Given the description of an element on the screen output the (x, y) to click on. 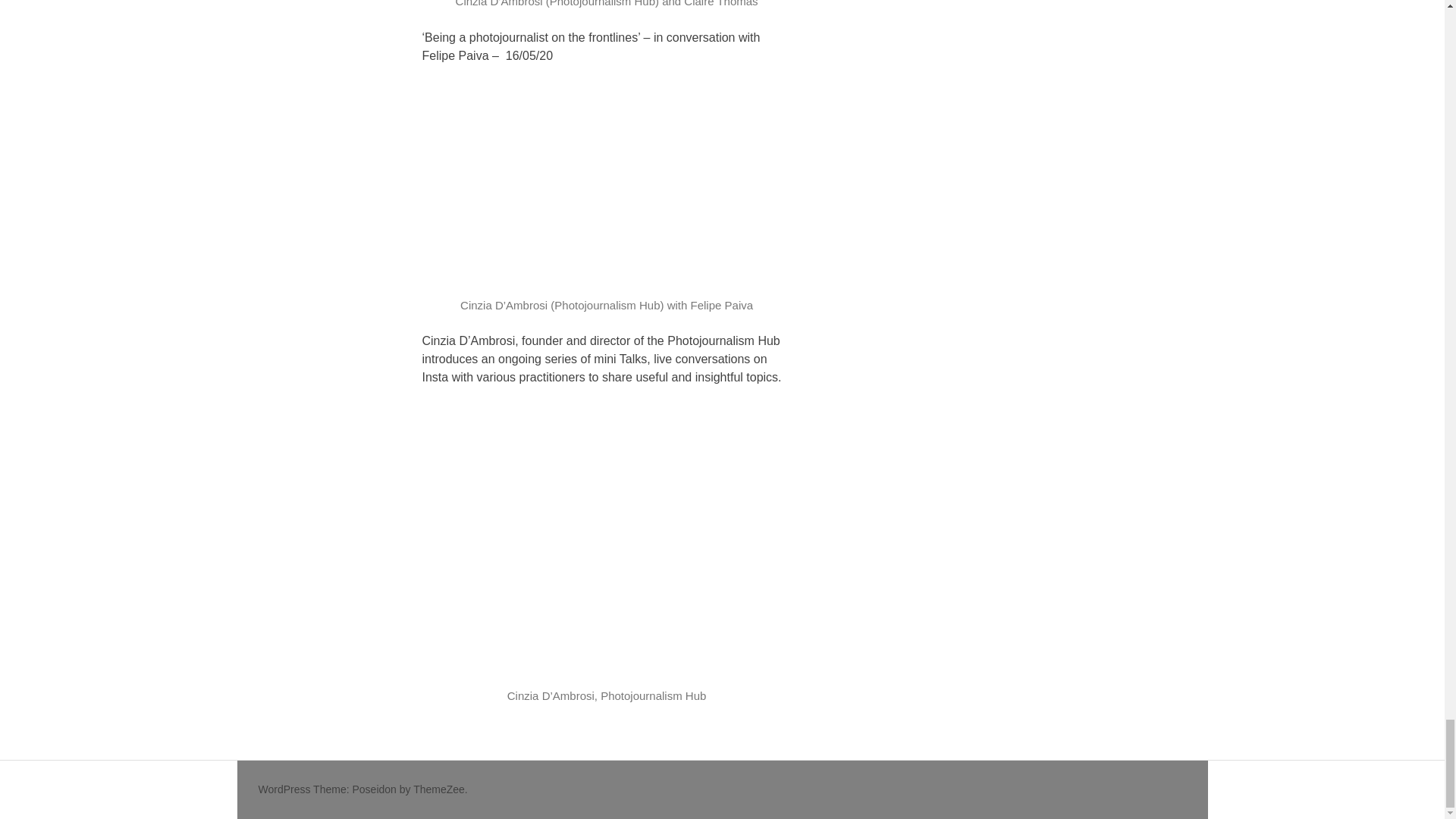
PHOTOJOURNALISM HUB MINITALKS  LAUNCH (606, 542)
In Conversation with Felipe Paiva (606, 187)
